Given the description of an element on the screen output the (x, y) to click on. 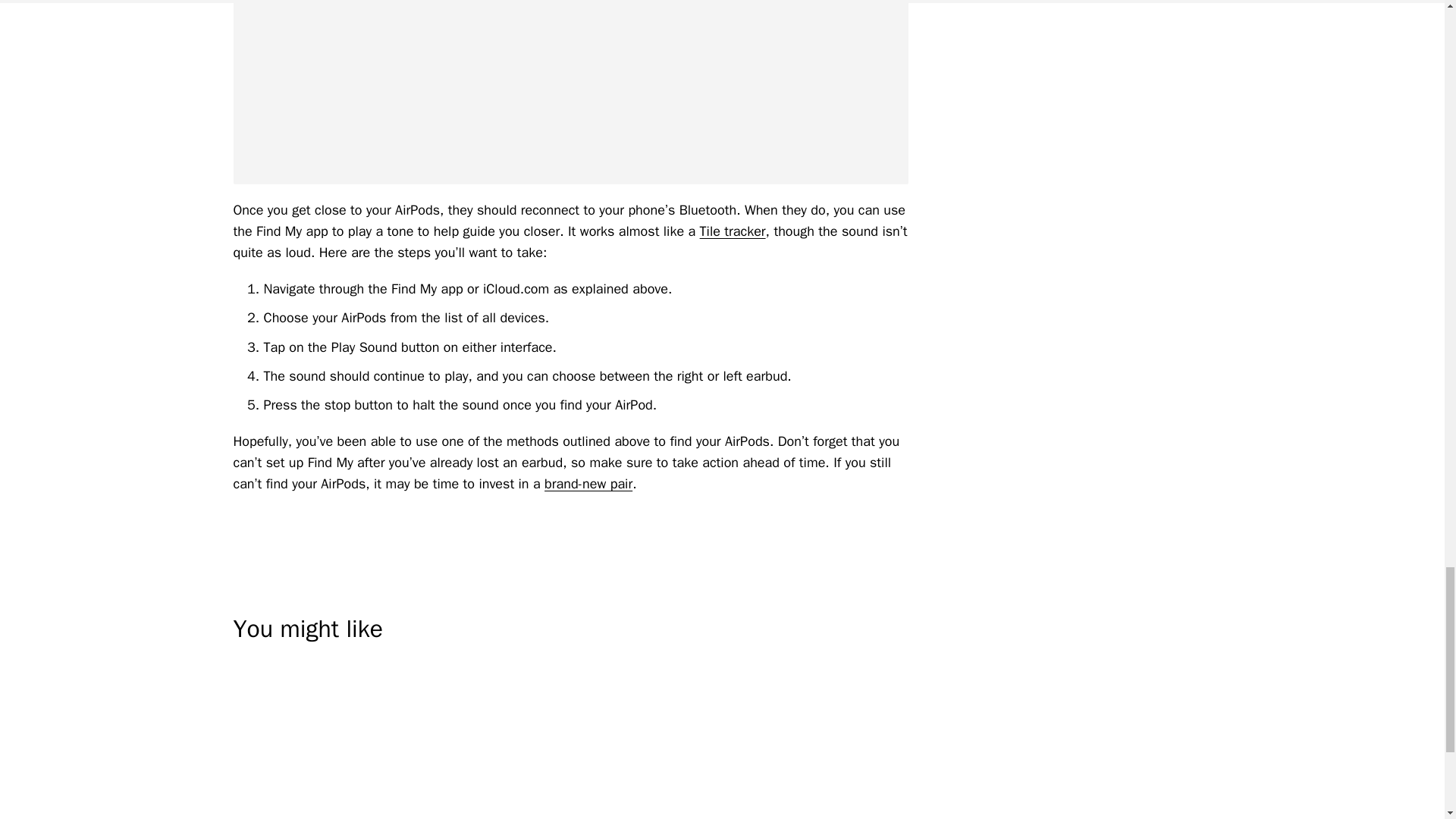
Airpods-2-6 (570, 92)
Tile tracker (732, 230)
brand-new pair (587, 483)
